Given the description of an element on the screen output the (x, y) to click on. 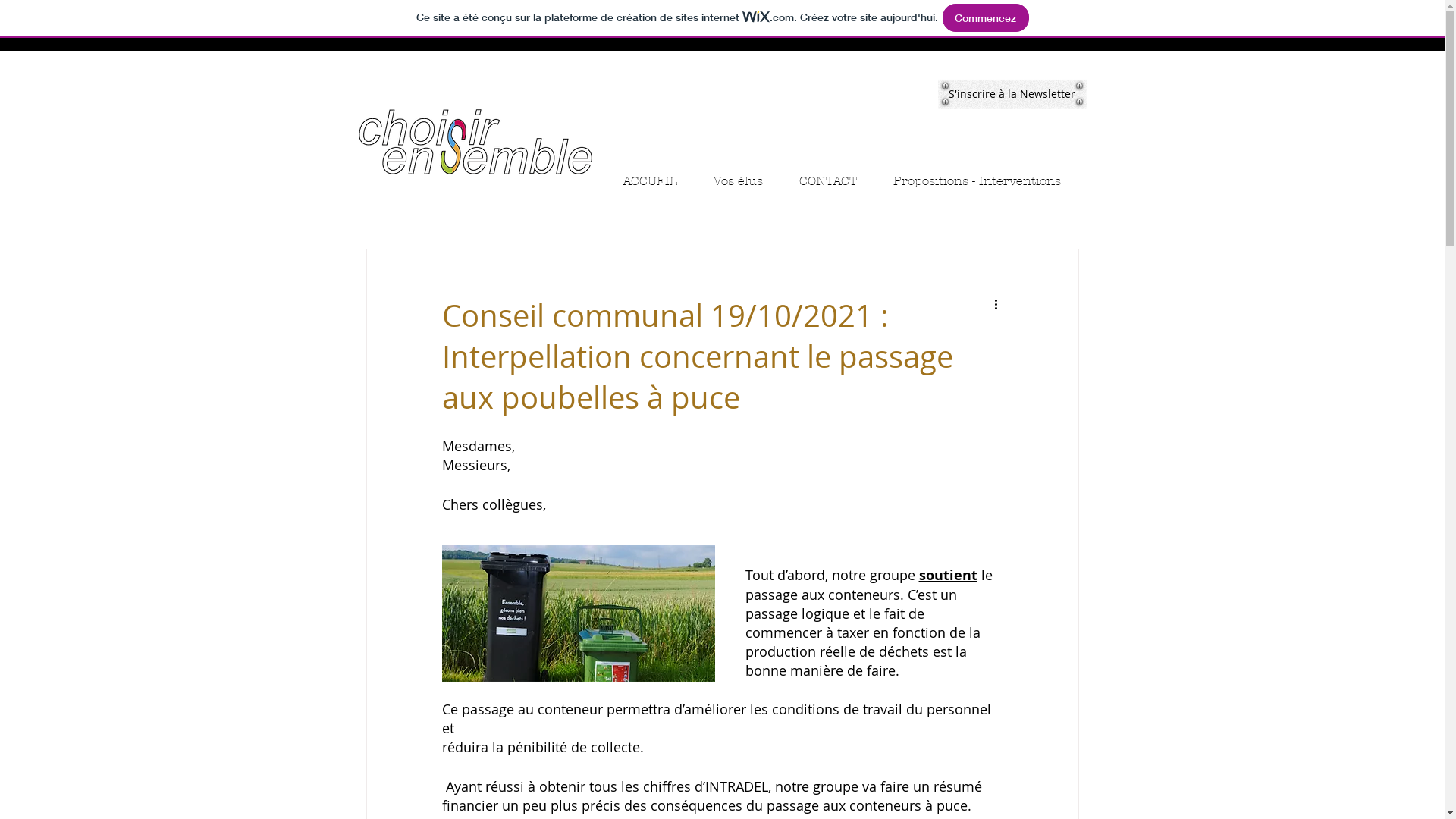
ACCUEIL Element type: text (648, 185)
Propositions - Interventions Element type: text (977, 185)
CONTACT Element type: text (828, 185)
